Given the description of an element on the screen output the (x, y) to click on. 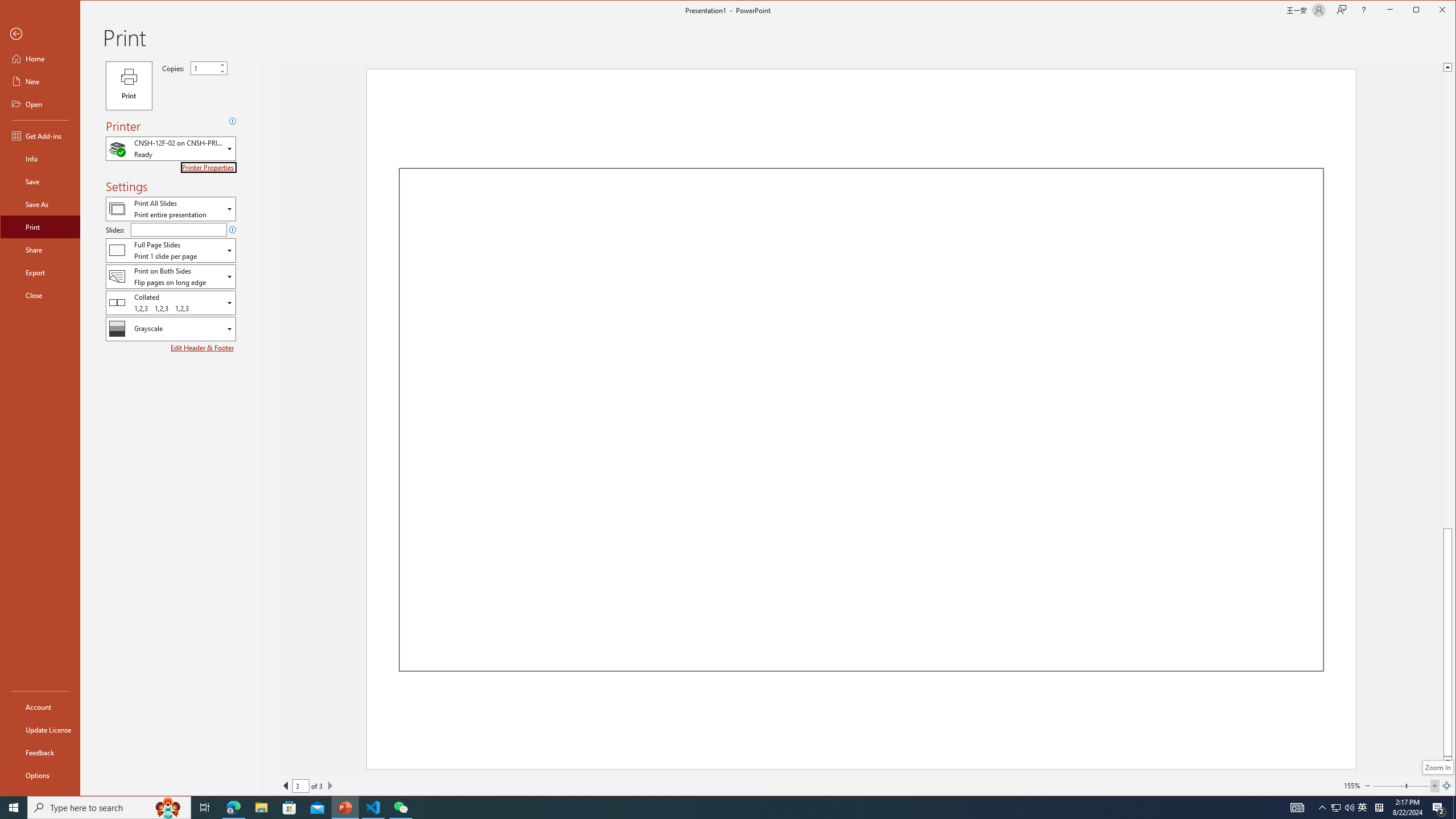
Collation (170, 302)
Page up (1447, 300)
Printer Properties (208, 166)
Page right (1418, 785)
Save As (40, 203)
PowerPoint - 1 running window (345, 807)
Info (40, 158)
Zoom to Page (1446, 785)
Update License (40, 729)
Visual Studio Code - 1 running window (373, 807)
Which Printer (170, 148)
Action Center, 2 new notifications (1439, 807)
Print (40, 226)
